Given the description of an element on the screen output the (x, y) to click on. 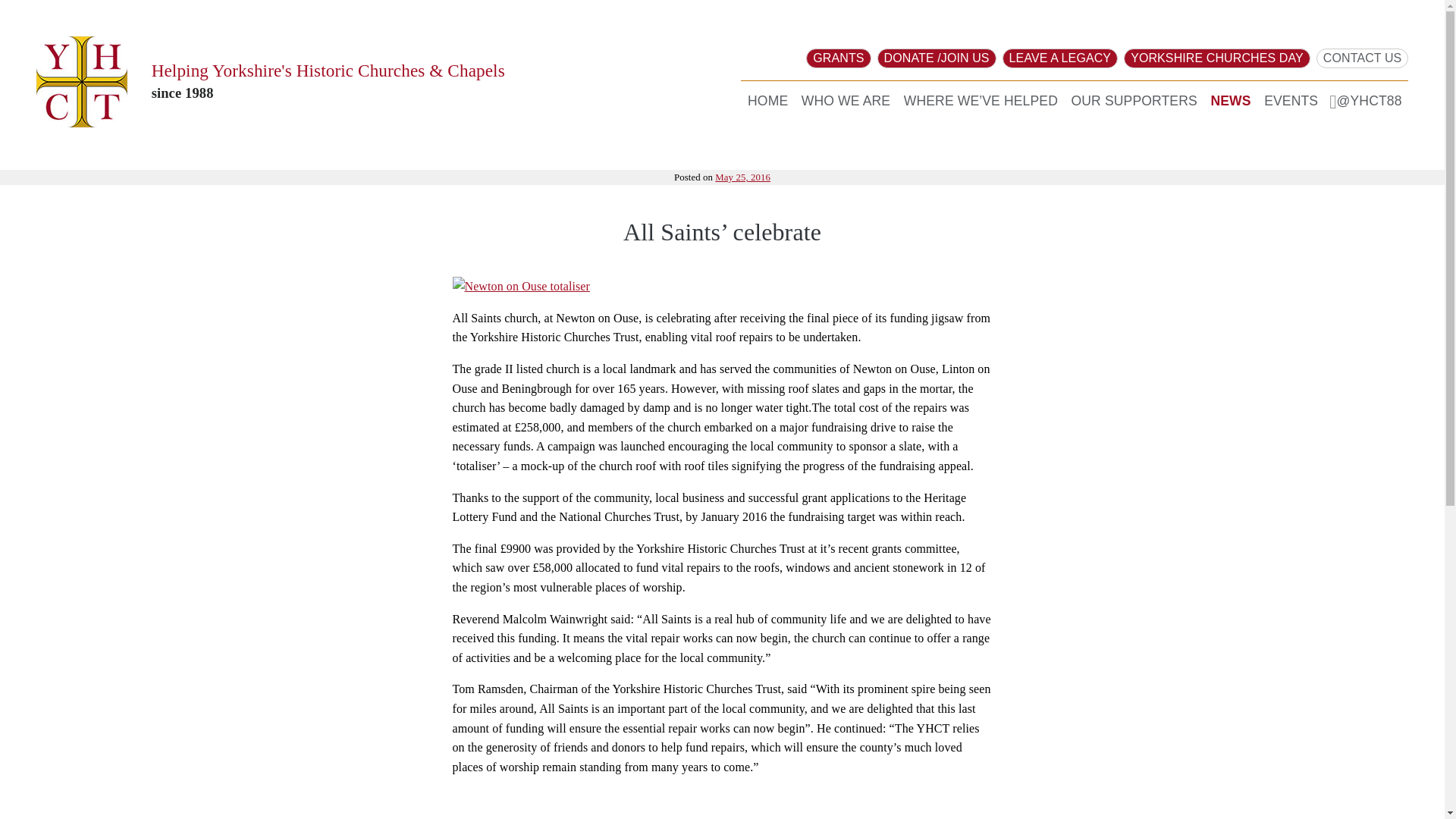
Donate, Join us (936, 57)
GRANTS (838, 57)
YORKSHIRE CHURCHES DAY (1217, 57)
Grants (838, 57)
EVENTS (1290, 100)
May 25, 2016 (742, 176)
NEWS (1230, 100)
Contact Us (1362, 57)
CONTACT US (1362, 57)
Twitter (1372, 100)
OUR SUPPORTERS (1134, 100)
Yorkshire Churches Day (1217, 57)
LEAVE A LEGACY (1060, 57)
Leave a legacy (1060, 57)
HOME (767, 100)
